Given the description of an element on the screen output the (x, y) to click on. 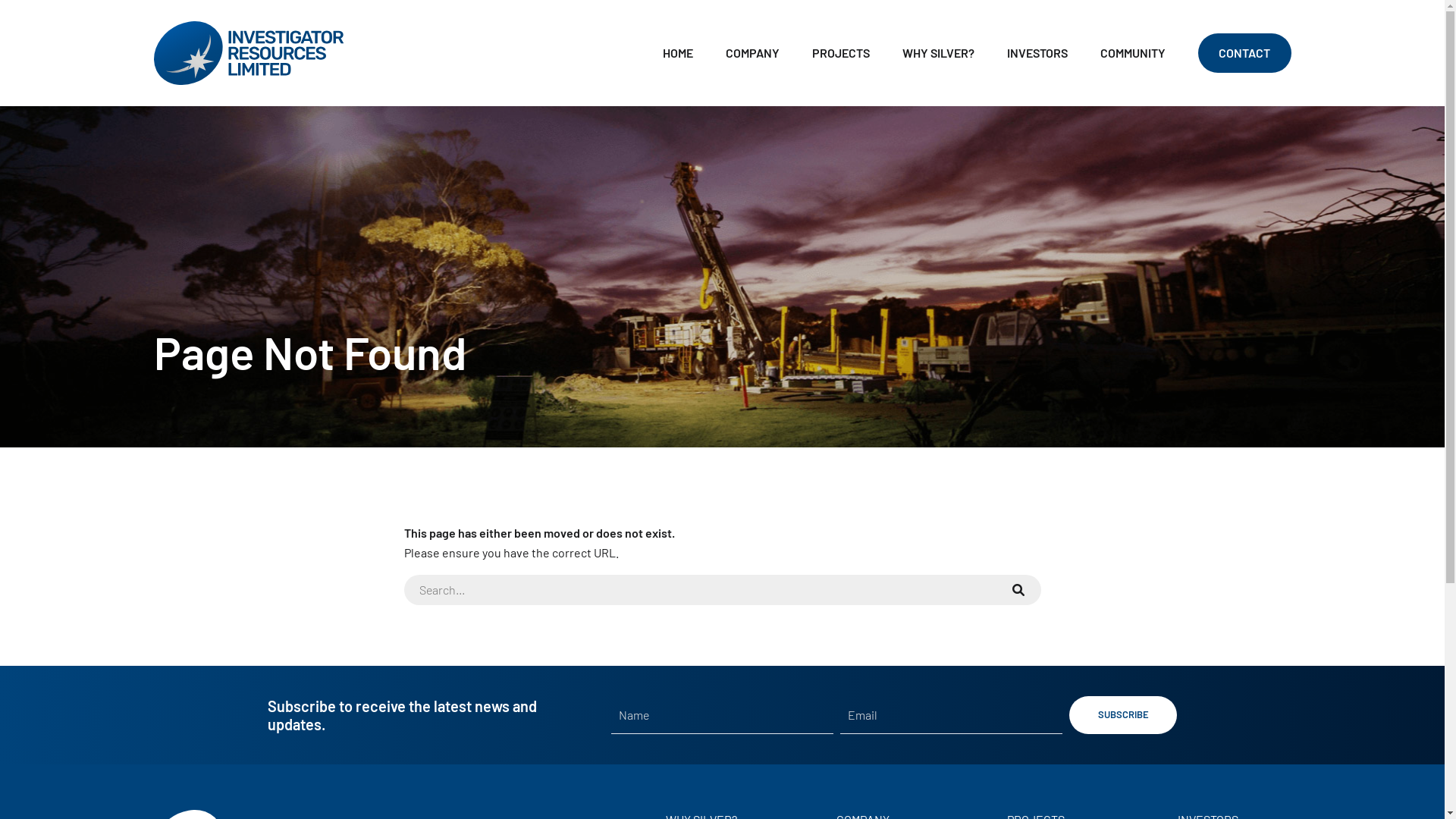
Subscribe Element type: text (1122, 715)
CONTACT Element type: text (1244, 52)
COMPANY Element type: text (752, 52)
WHY SILVER? Element type: text (938, 52)
HOME Element type: text (677, 52)
INVESTORS Element type: text (1037, 52)
PROJECTS Element type: text (840, 52)
COMMUNITY Element type: text (1132, 52)
